Given the description of an element on the screen output the (x, y) to click on. 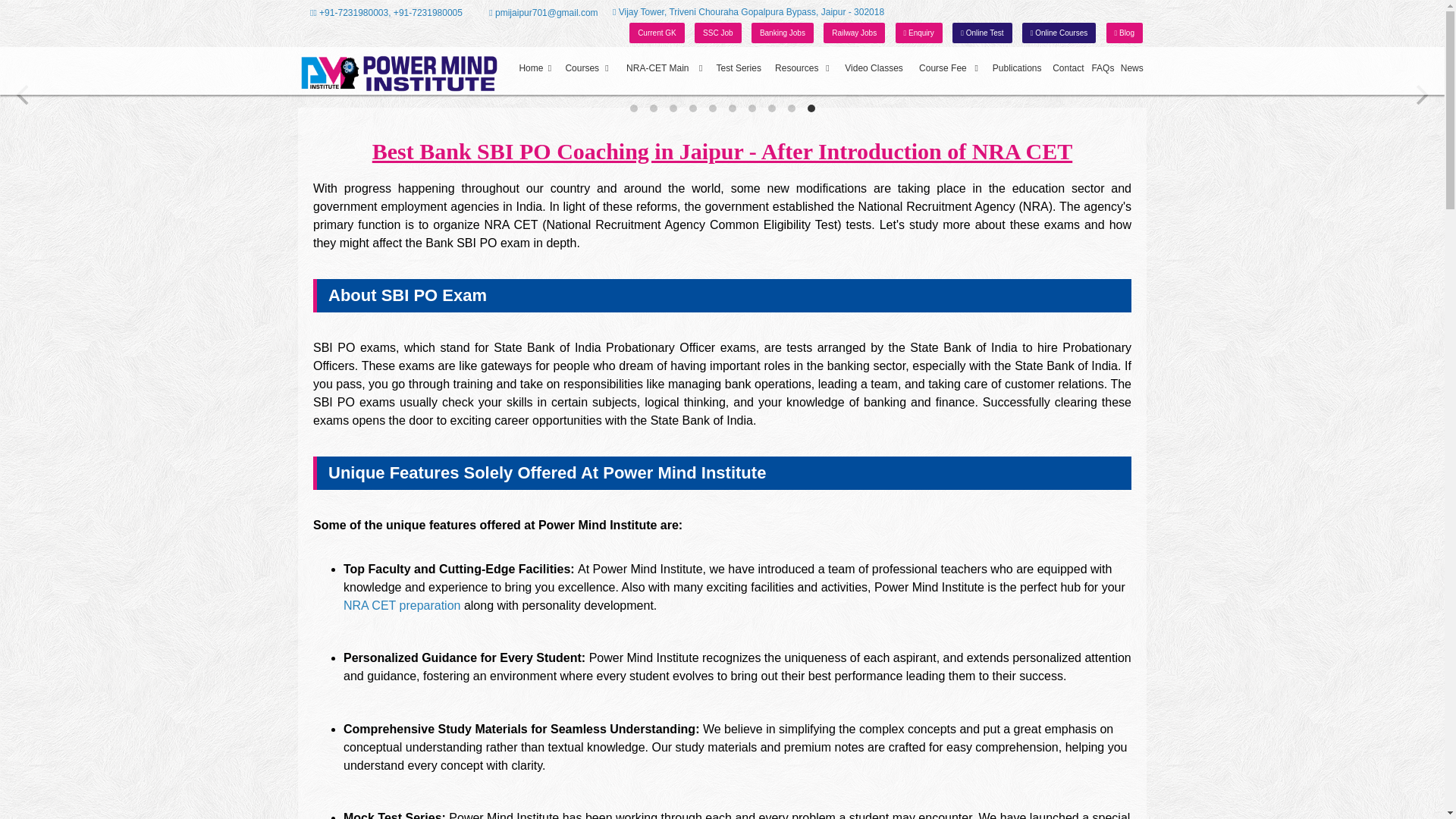
Current GK (656, 32)
Blog (1124, 32)
Enquiry (918, 32)
Railway Jobs (854, 32)
Online Test (981, 32)
Power Mind Institute Logo (397, 73)
Online Courses (1059, 32)
Online Test (981, 32)
Current GK (656, 32)
SSC Job (717, 32)
Home (536, 68)
Banking Jobs (782, 32)
Railway Jobs (854, 32)
Blog (1124, 32)
Courses (587, 68)
